Given the description of an element on the screen output the (x, y) to click on. 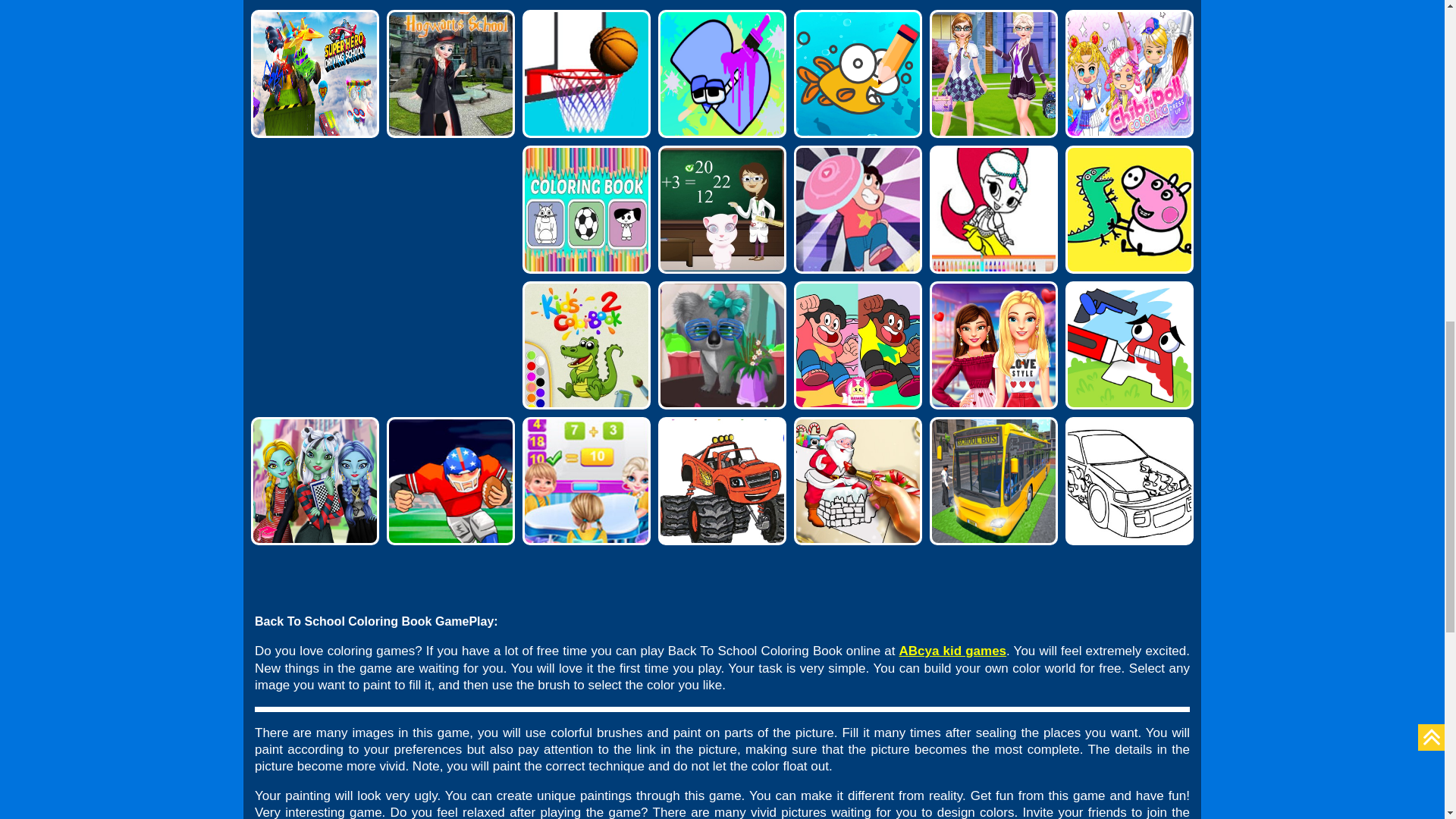
Advertisement (113, 57)
